Given the description of an element on the screen output the (x, y) to click on. 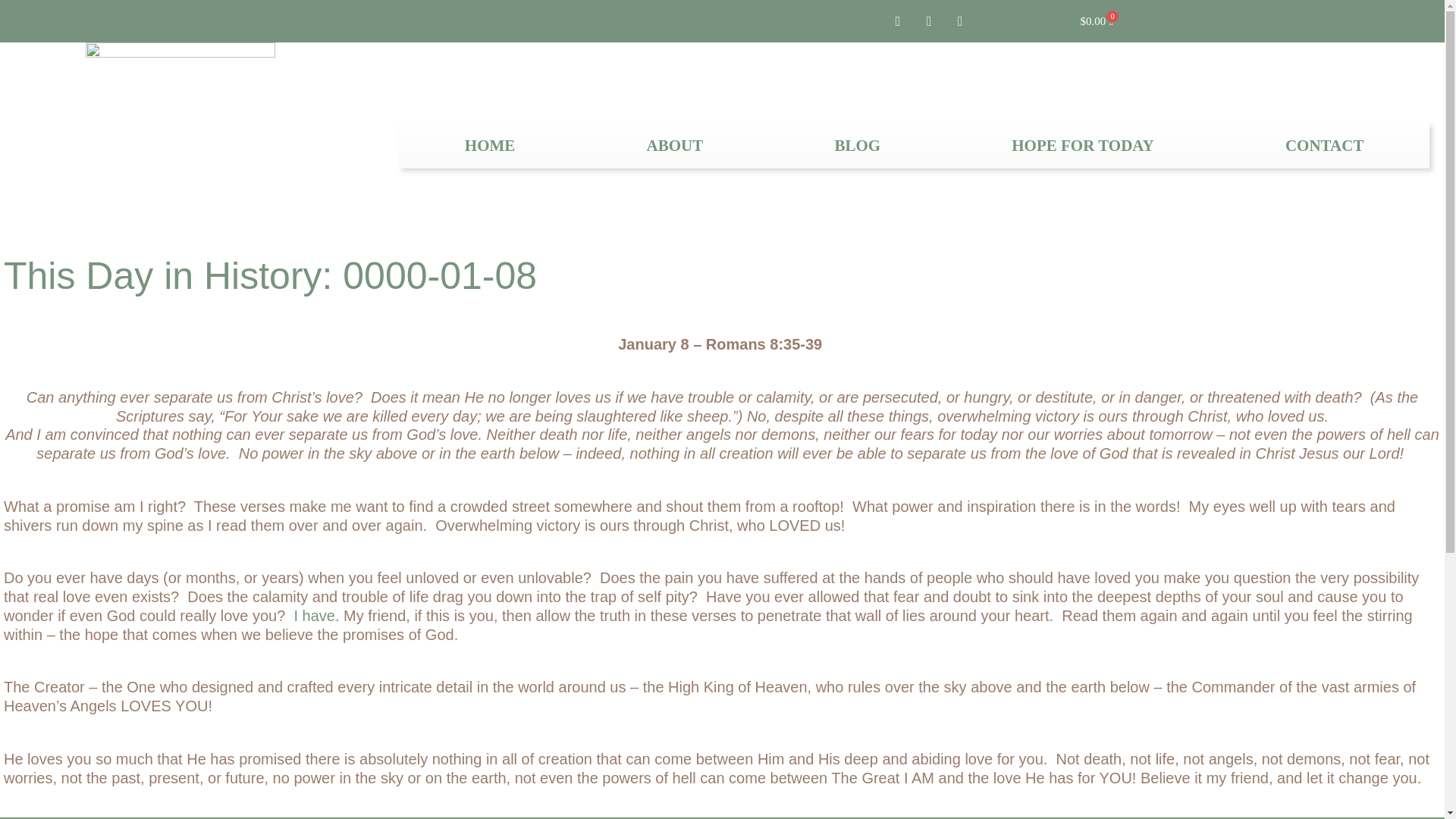
Facebook-f (897, 21)
I have. (316, 615)
HOPE FOR TODAY (1083, 145)
Pinterest (928, 21)
BLOG (857, 145)
HOME (489, 145)
ABOUT (674, 145)
CONTACT (1324, 145)
Instagram (960, 21)
